Given the description of an element on the screen output the (x, y) to click on. 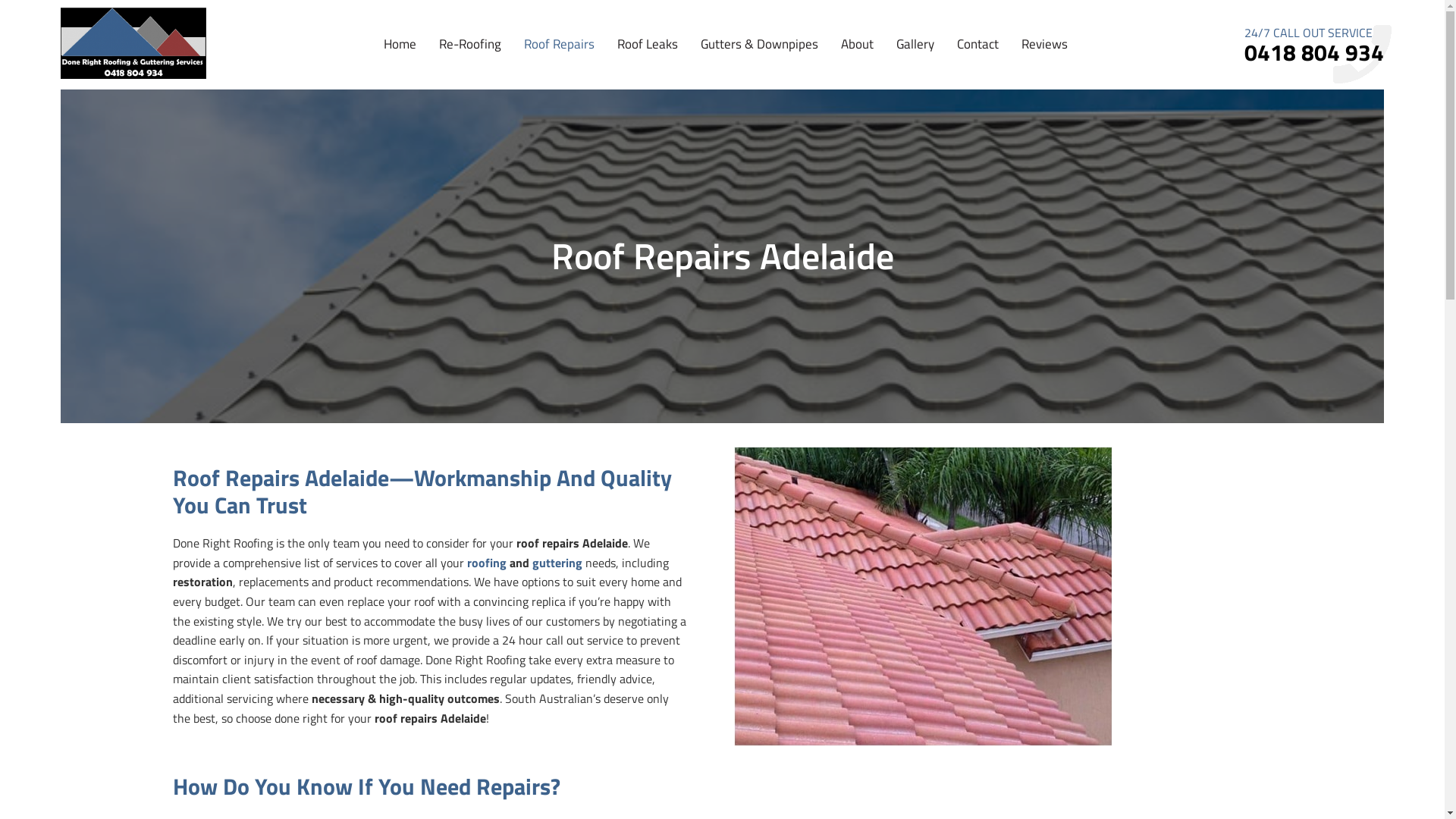
our-gallery-5 Element type: hover (923, 595)
Gutters & Downpipes Element type: text (759, 61)
Gallery Element type: text (915, 61)
About Element type: text (856, 61)
Contact Element type: text (977, 61)
guttering Element type: text (557, 562)
roofing Element type: text (486, 562)
Home Element type: text (399, 61)
Re-Roofing Element type: text (469, 61)
Roof Repairs Element type: text (558, 61)
DONE RIGHT ROOFING & GUTTERING SERVICES Element type: text (133, 44)
Roof Leaks Element type: text (647, 61)
0418 804 934 Element type: text (1313, 52)
Reviews Element type: text (1043, 61)
